Given the description of an element on the screen output the (x, y) to click on. 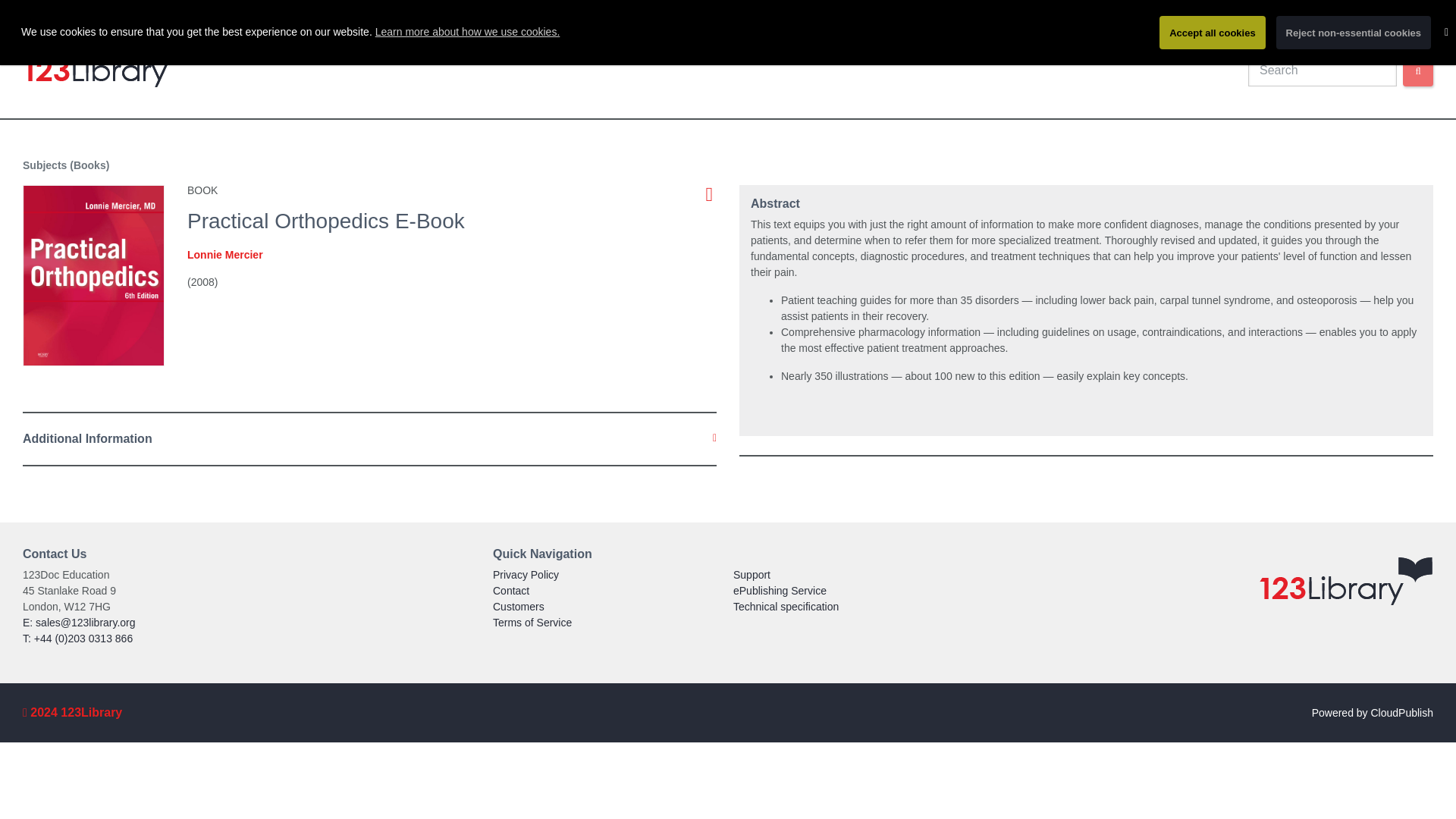
Accept all cookies (1211, 32)
Customers (518, 606)
Search (1417, 70)
Lonnie Mercier (225, 254)
Powered by CloudPublish (1371, 712)
Login (1260, 38)
Reject non-essential cookies (1353, 32)
Privacy Policy (526, 574)
ePublishing Service (780, 590)
Contact (511, 590)
